Given the description of an element on the screen output the (x, y) to click on. 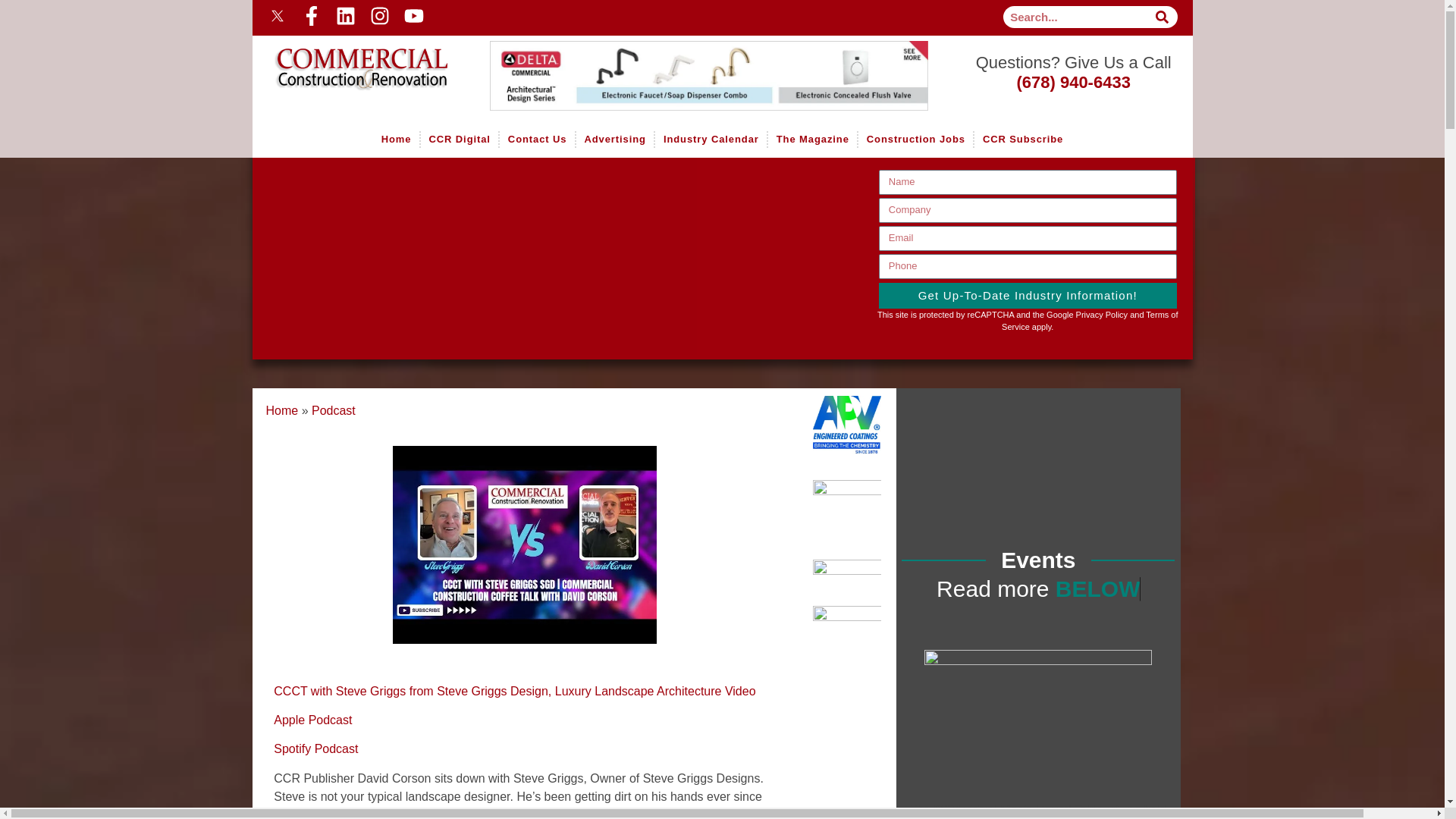
Home (350, 58)
Industry Calendar (710, 138)
Social Media (486, 15)
CCR Digital (459, 138)
Contact Us (537, 138)
Advertising (614, 138)
Sponsors (718, 76)
